Given the description of an element on the screen output the (x, y) to click on. 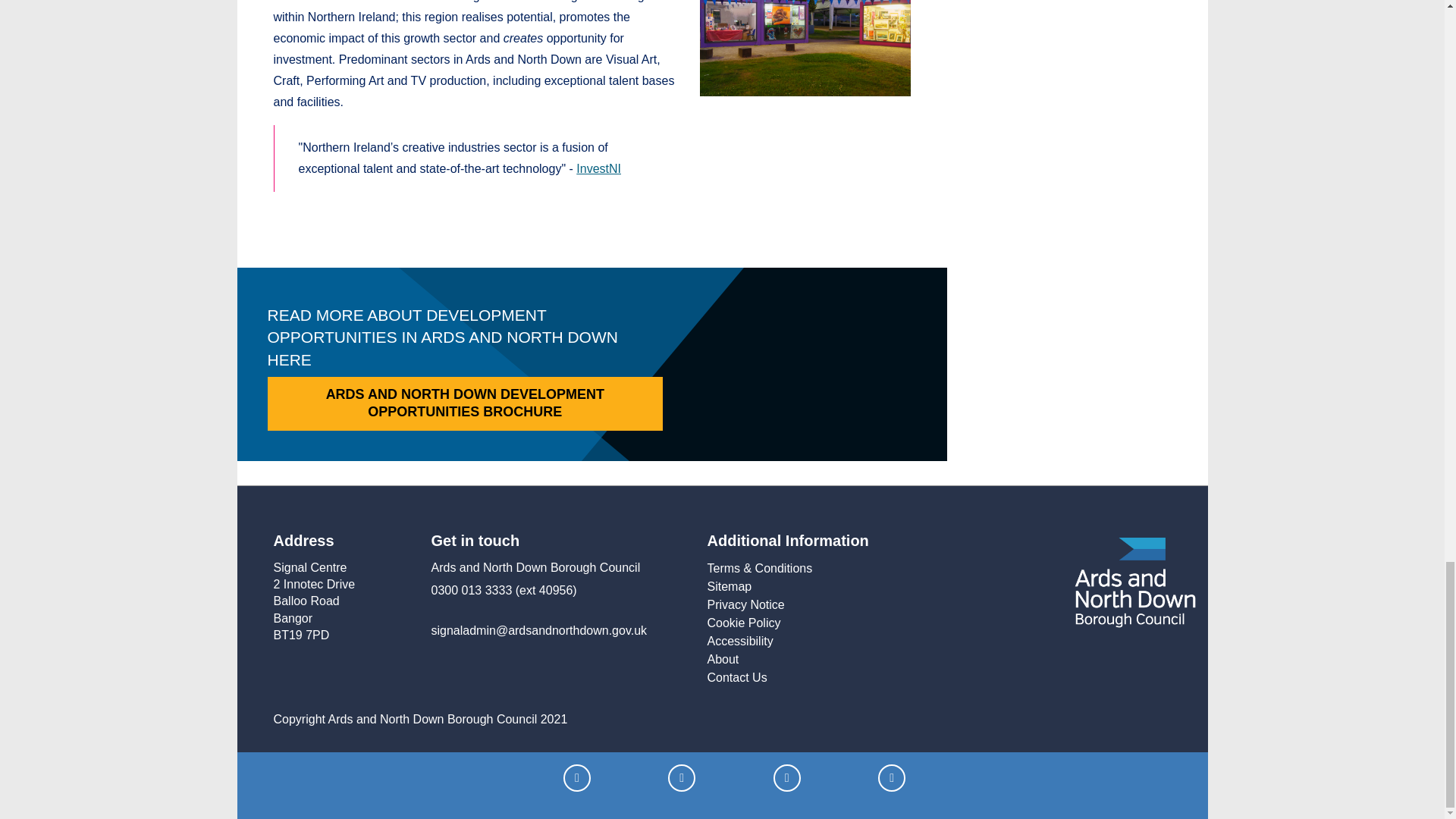
Follow us on Twitter (681, 777)
Follow us on Facebook (577, 777)
Follow us on Instagram (786, 777)
Project 24 Creative Pods (805, 48)
Follow our YouTube channel (891, 777)
